Given the description of an element on the screen output the (x, y) to click on. 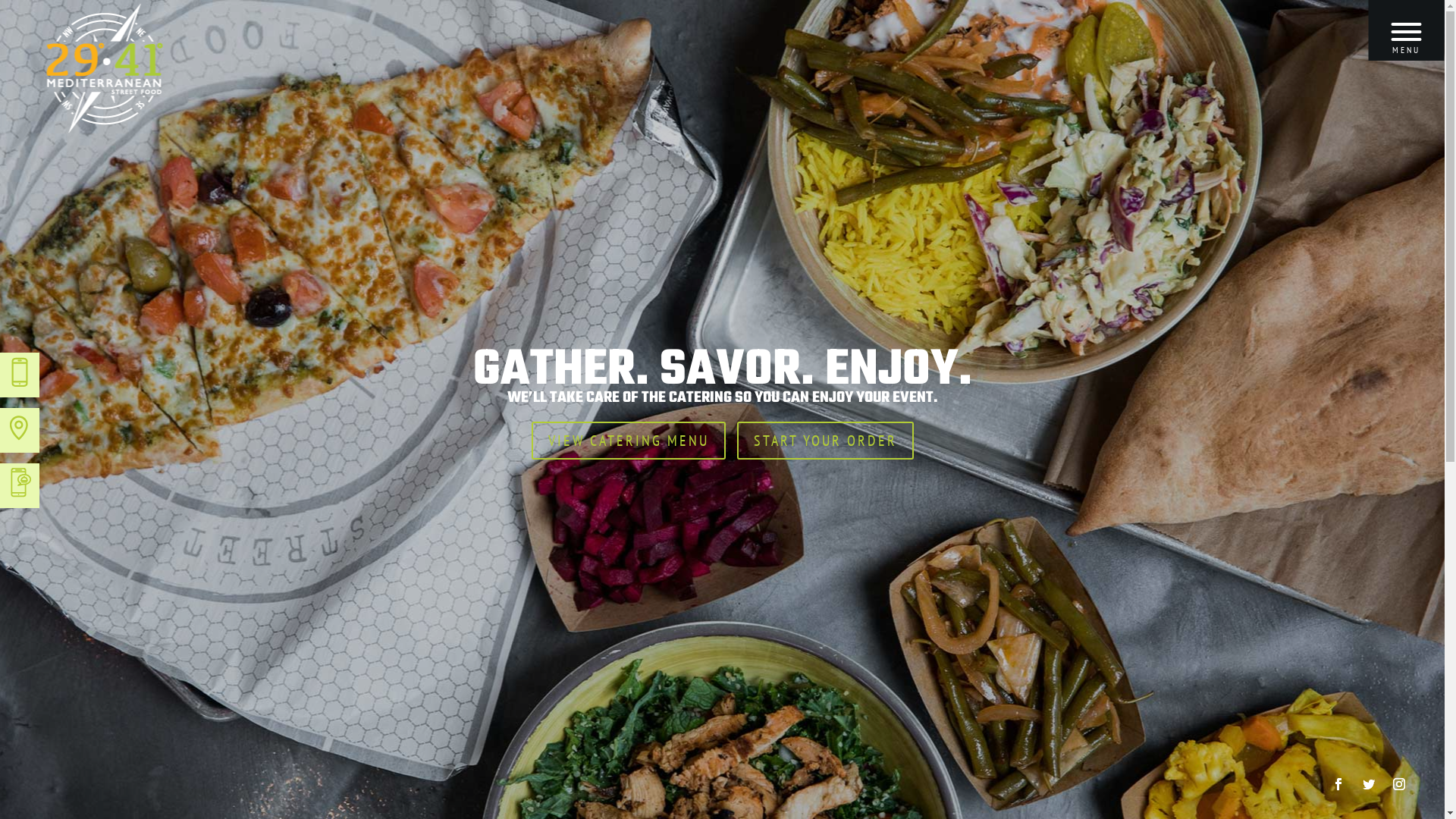
VIEW CATERING MENU Element type: text (627, 440)
START YOUR ORDER Element type: text (825, 440)
Follow on Instagram Element type: hover (1398, 783)
Follow on Facebook Element type: hover (1338, 783)
Follow on Twitter Element type: hover (1368, 783)
2941_logo Element type: hover (104, 68)
